Given the description of an element on the screen output the (x, y) to click on. 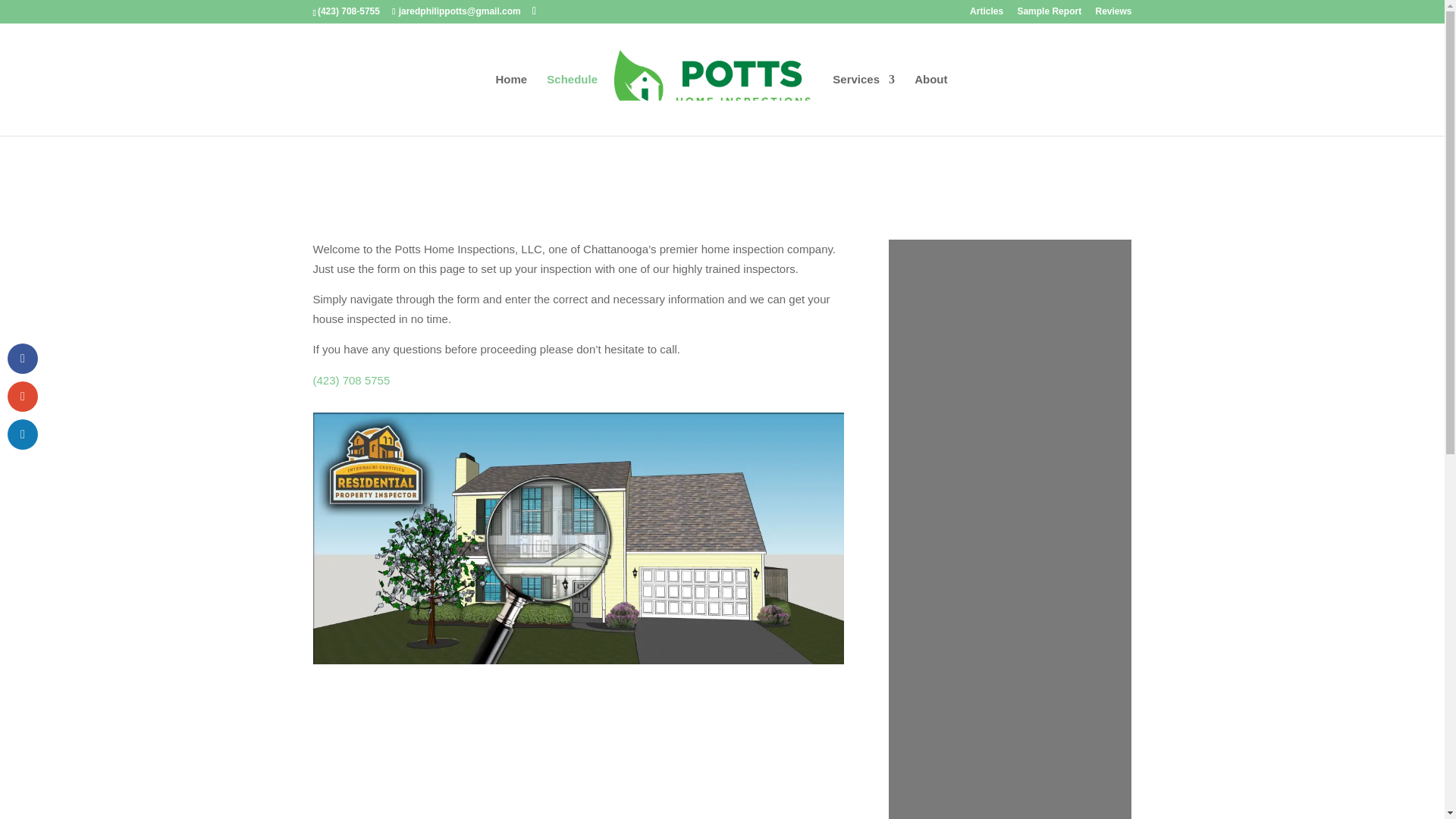
Services (863, 104)
Sample Report (1048, 14)
Articles (986, 14)
Reviews (1112, 14)
